Given the description of an element on the screen output the (x, y) to click on. 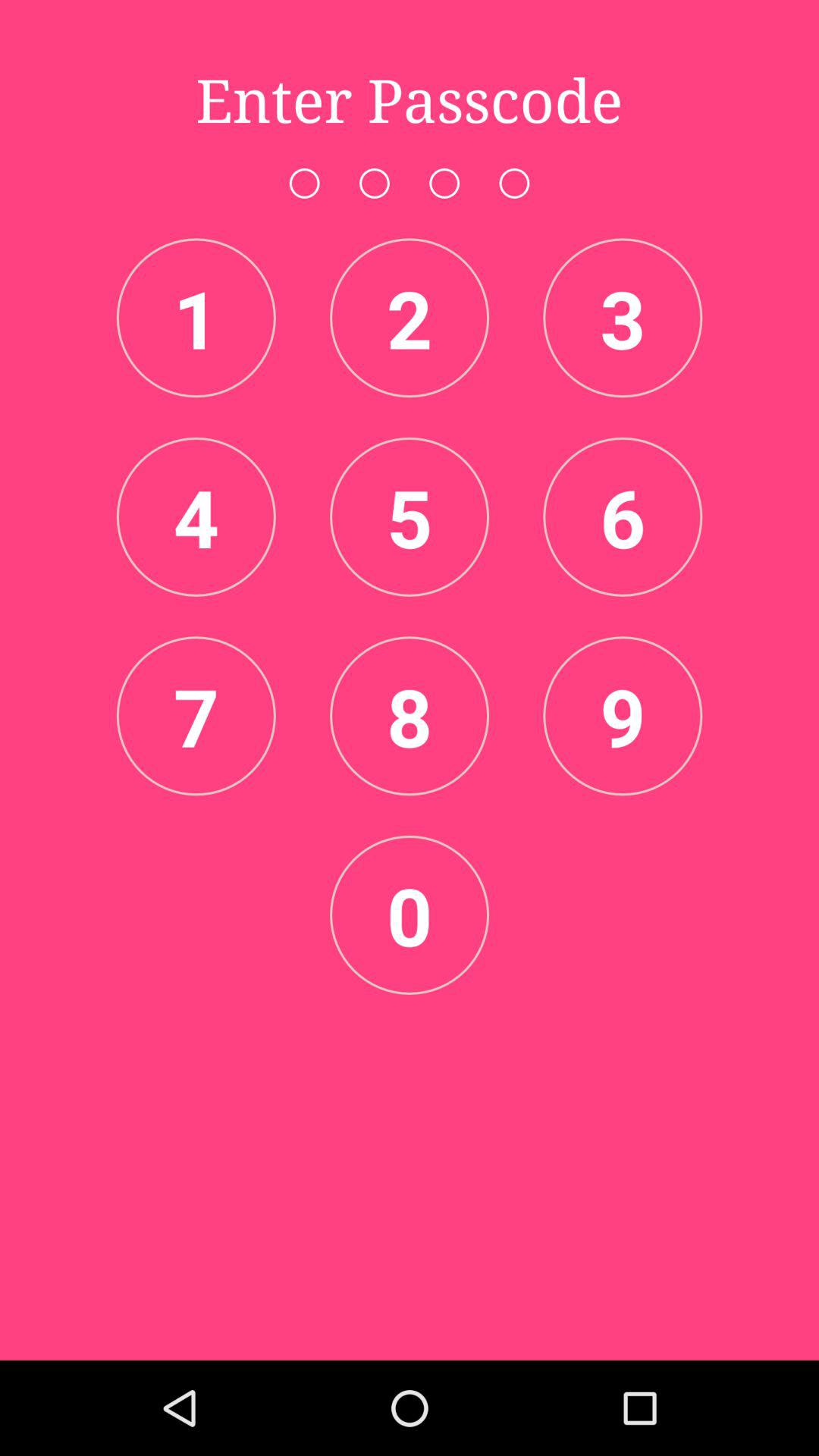
select the icon next to the 8 (195, 715)
